Given the description of an element on the screen output the (x, y) to click on. 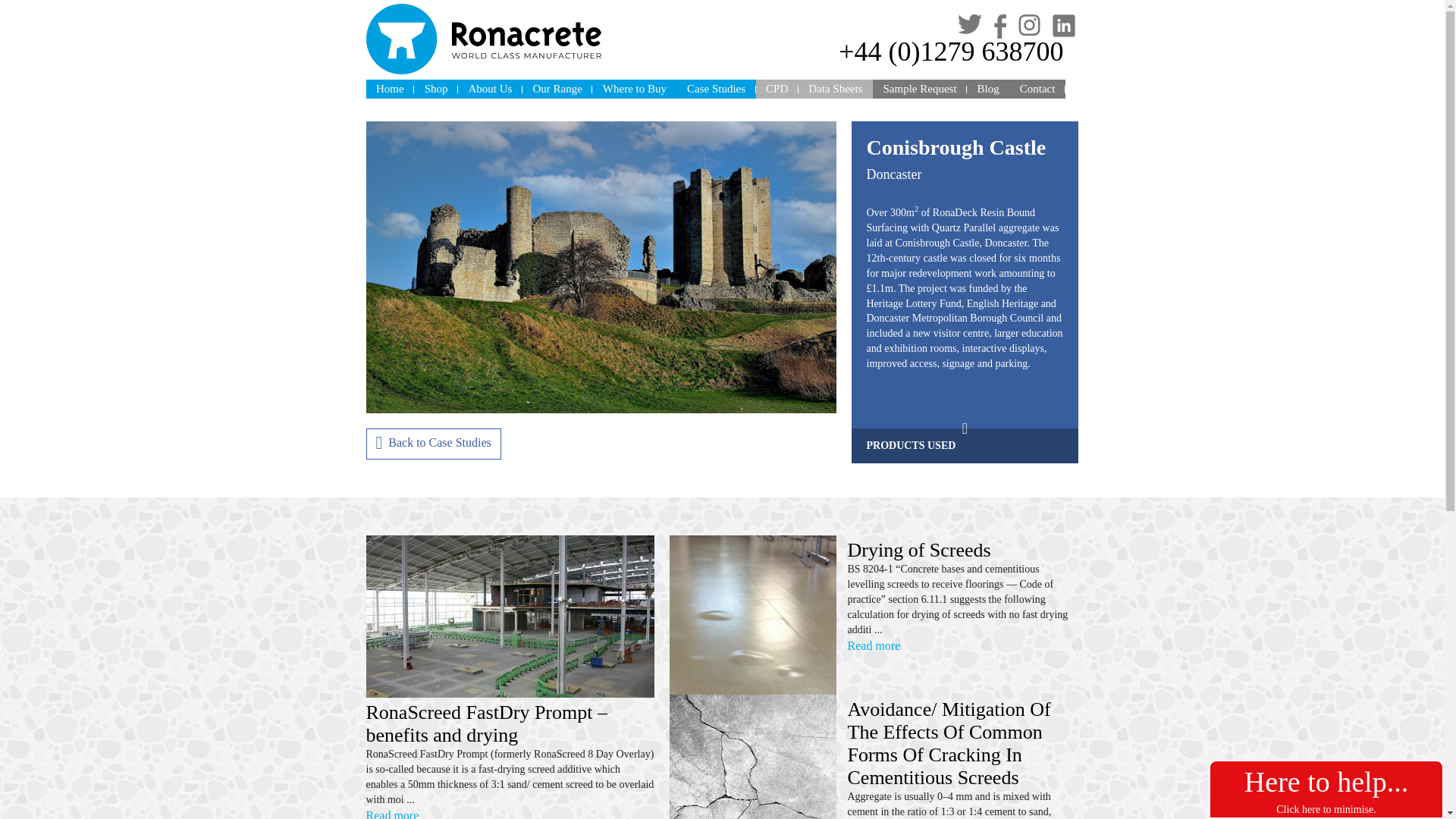
Case Studies (716, 88)
Blog (987, 88)
CPD (776, 88)
Contact (1037, 88)
Home (389, 88)
Our Range (557, 88)
Shop (435, 88)
Ronacrete (482, 39)
Data Sheets (834, 88)
About Us (490, 88)
Where to Buy (634, 88)
Sample Request (919, 88)
